Given the description of an element on the screen output the (x, y) to click on. 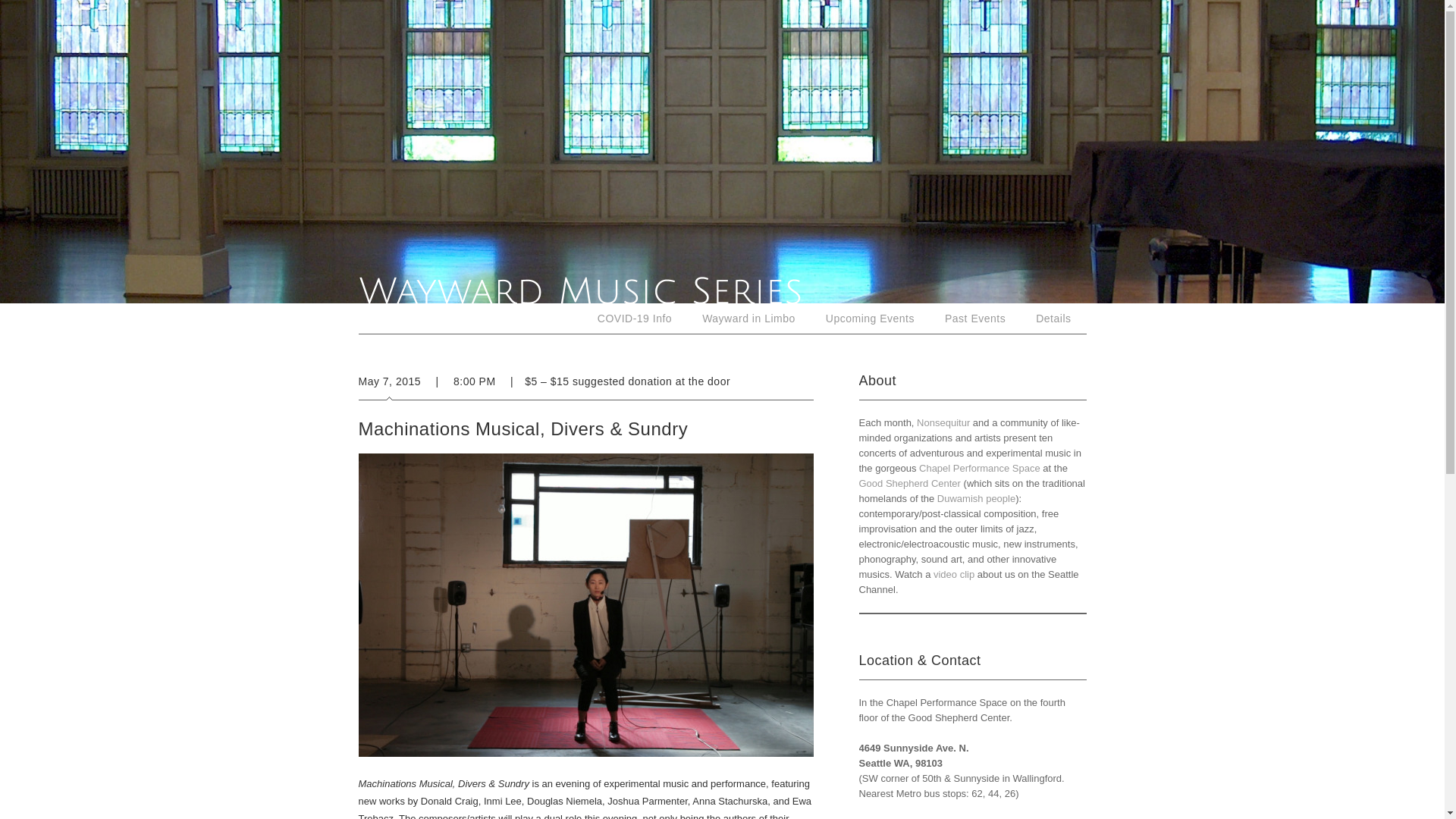
Wayward in Limbo (748, 318)
Good Shepherd Center (909, 482)
video clip (953, 573)
Details (1053, 318)
Nonsequitur (943, 422)
Duwamish people (975, 498)
Upcoming Events (870, 318)
Chapel Performance Space (979, 468)
COVID-19 Info (634, 318)
